Given the description of an element on the screen output the (x, y) to click on. 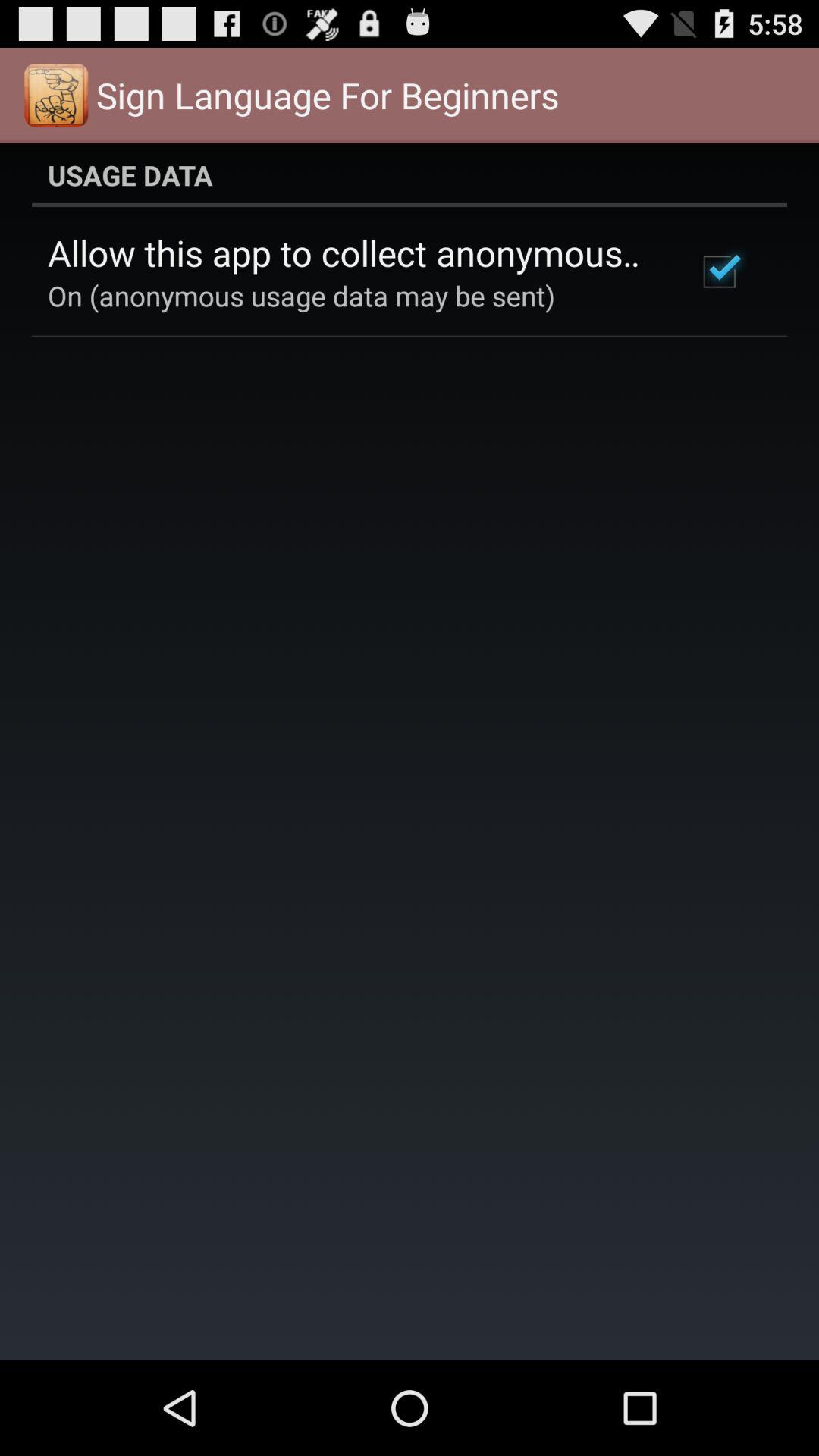
launch app below the usage data icon (351, 252)
